Given the description of an element on the screen output the (x, y) to click on. 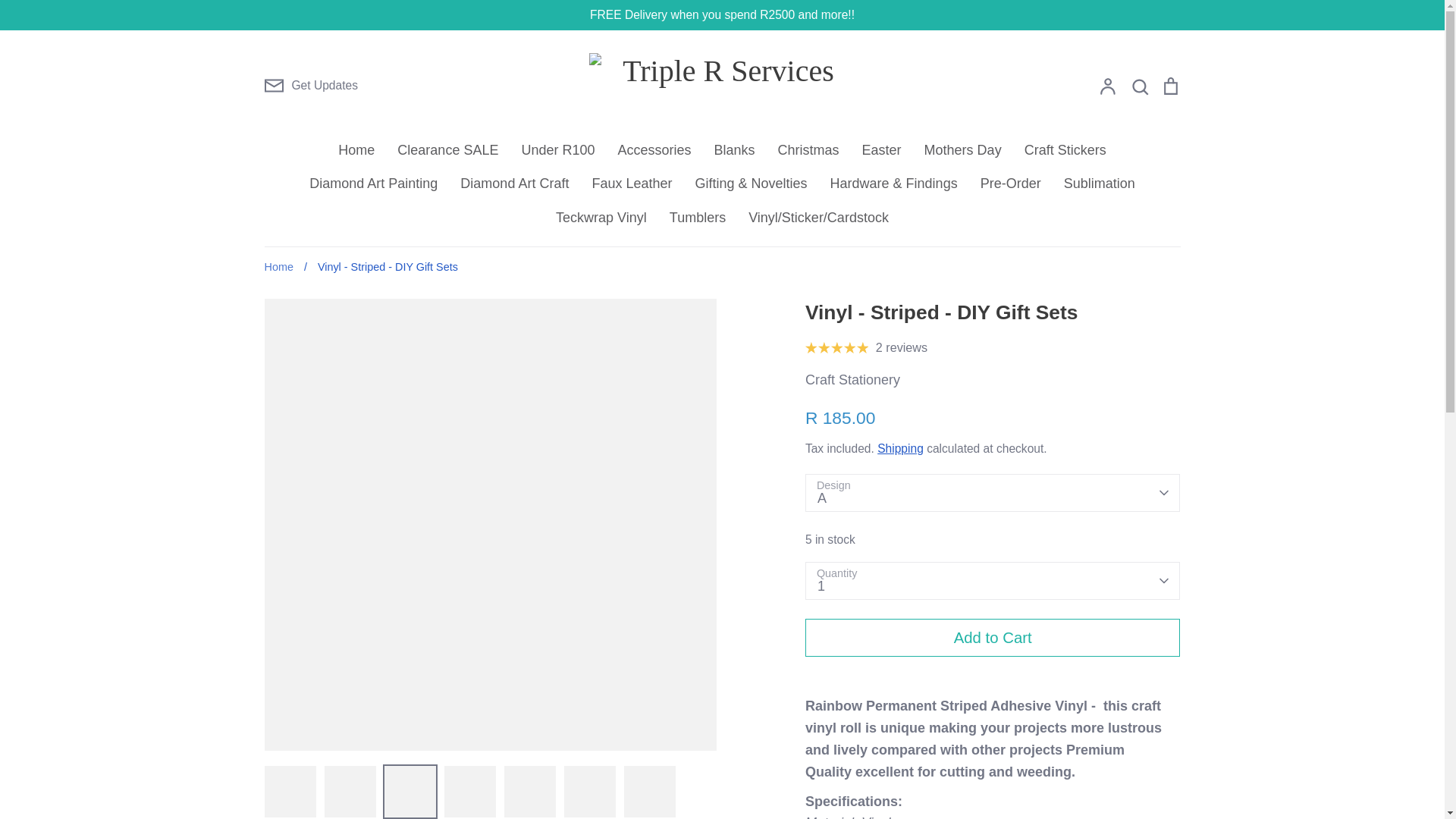
Get Updates (309, 85)
Home (355, 150)
Search (1139, 86)
Mothers Day (962, 150)
Clearance SALE (447, 150)
Craft Stickers (1065, 150)
Account (1107, 86)
Diamond Art Painting (373, 183)
Accessories (653, 150)
Cart (1169, 86)
